Given the description of an element on the screen output the (x, y) to click on. 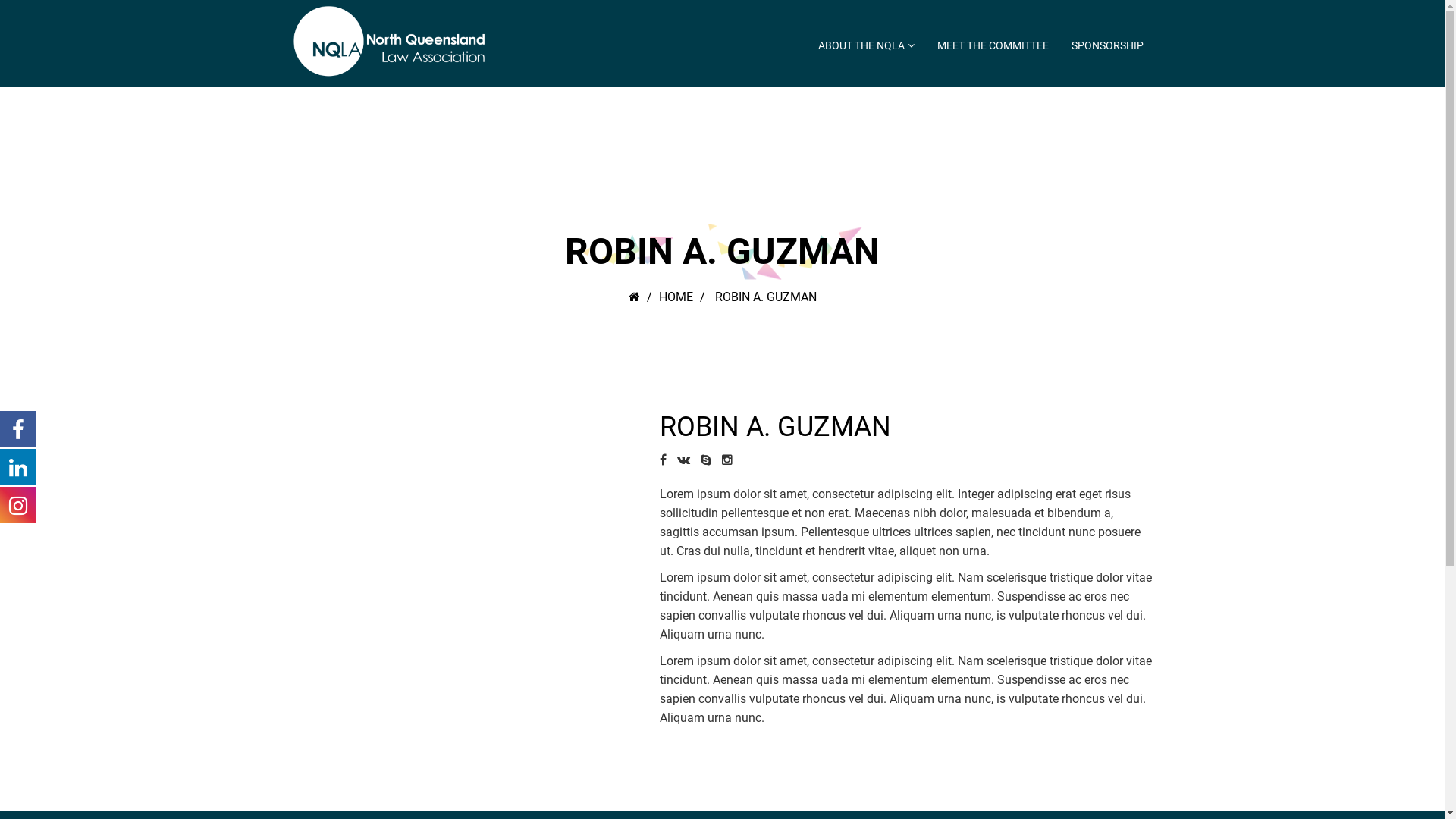
MEET THE COMMITTEE Element type: text (992, 45)
HOME Element type: text (675, 296)
SPONSORSHIP Element type: text (1107, 45)
ABOUT THE NQLA Element type: text (865, 45)
